Given the description of an element on the screen output the (x, y) to click on. 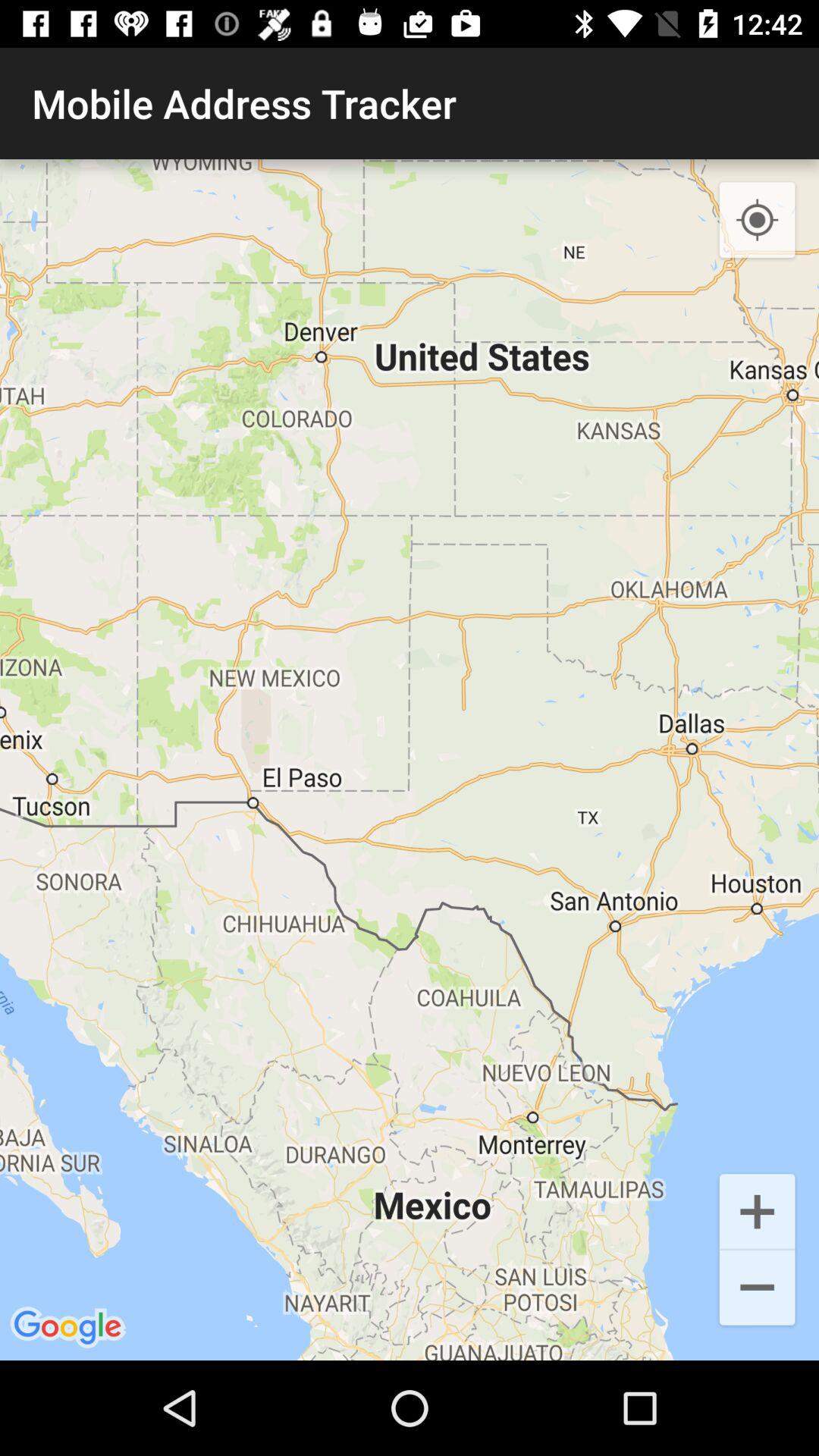
click item at the center (409, 759)
